Given the description of an element on the screen output the (x, y) to click on. 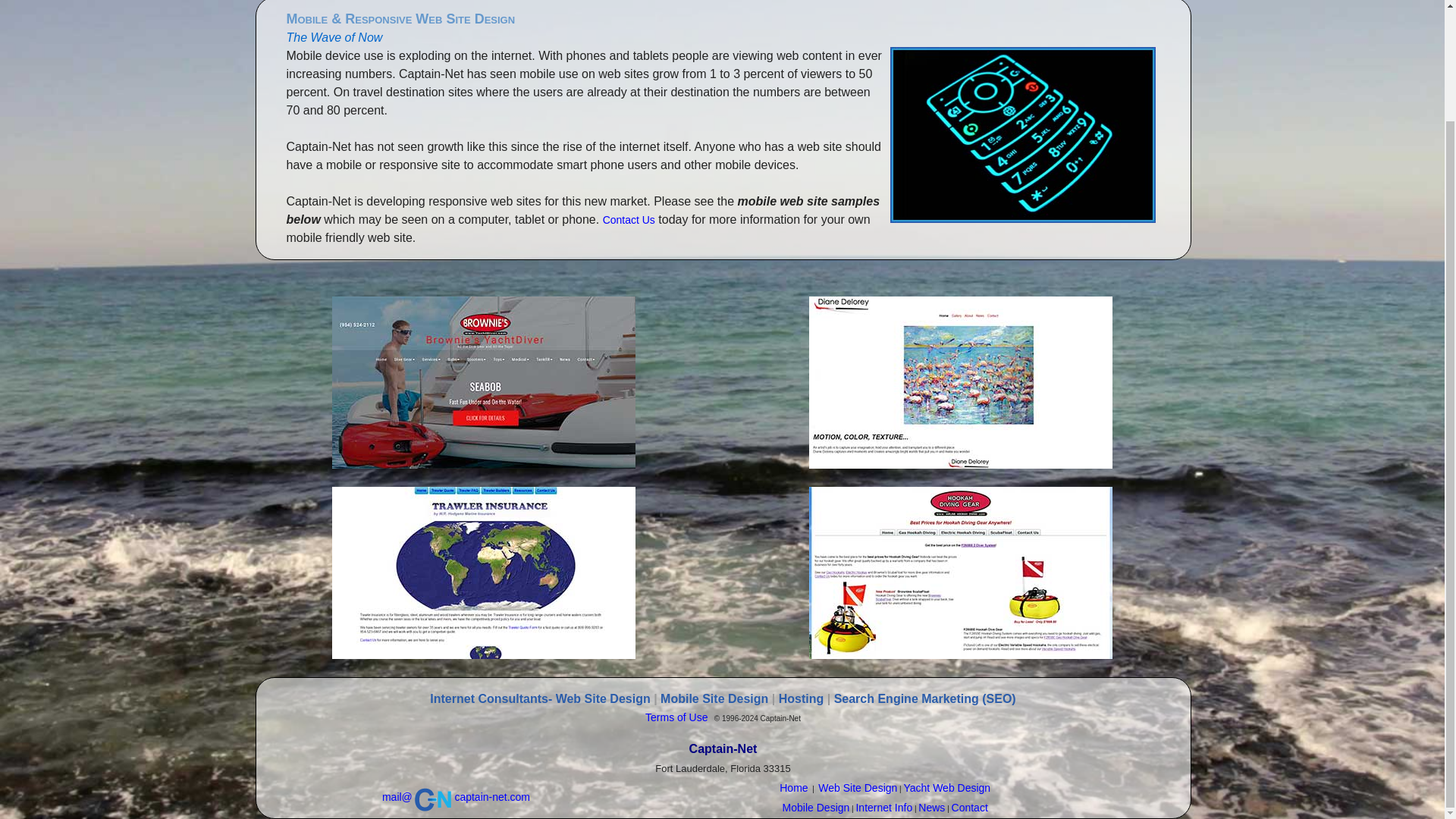
Terms of Use (676, 717)
Home (793, 787)
Yacht Web Design (946, 787)
Internet Info (884, 807)
News (931, 807)
captain-net.com (491, 797)
Web Site Design (857, 787)
Mobile Design (816, 807)
Contact Us (628, 219)
Contact (970, 807)
